Given the description of an element on the screen output the (x, y) to click on. 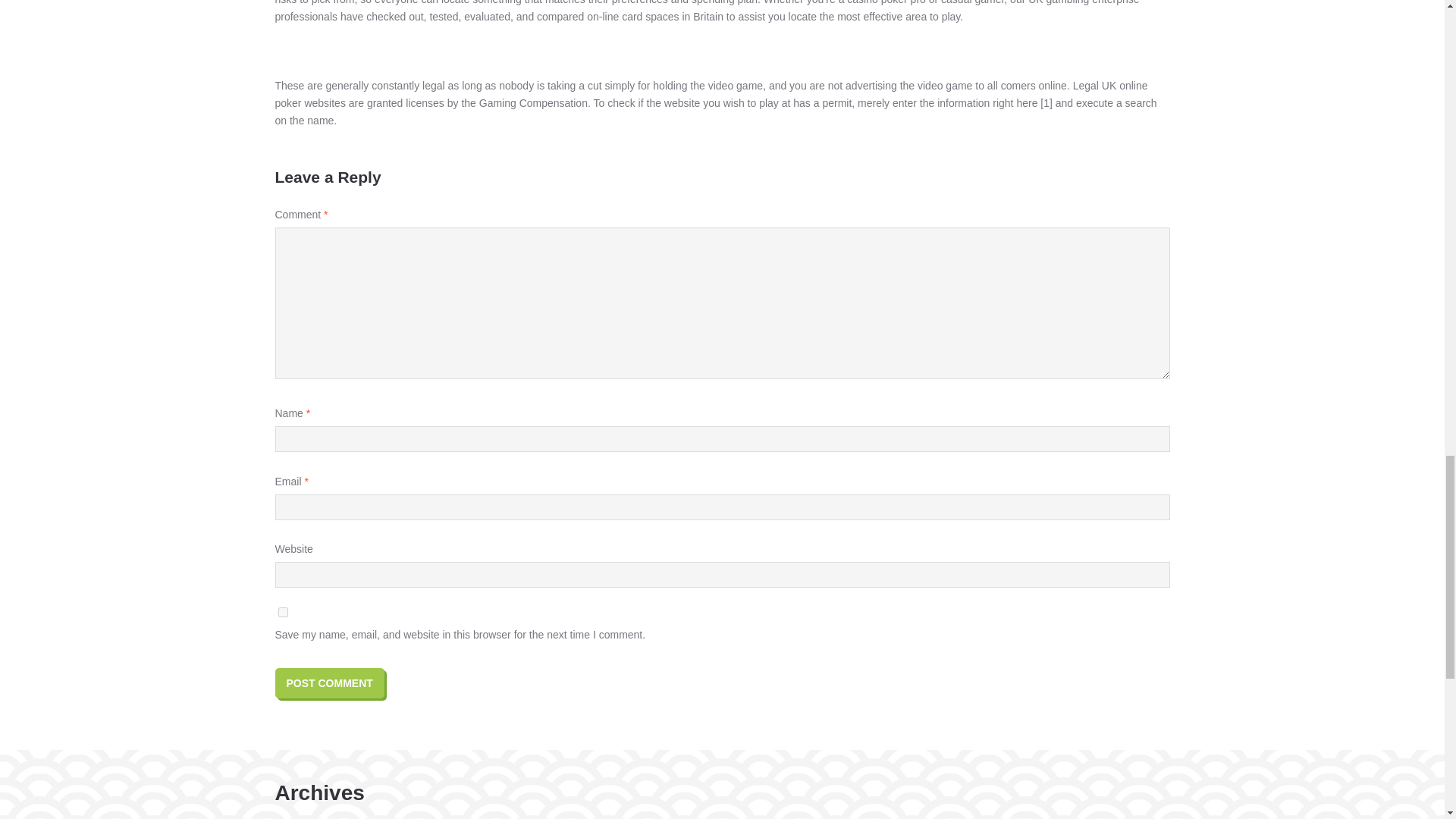
Post Comment (329, 683)
Post Comment (329, 683)
yes (282, 612)
